Given the description of an element on the screen output the (x, y) to click on. 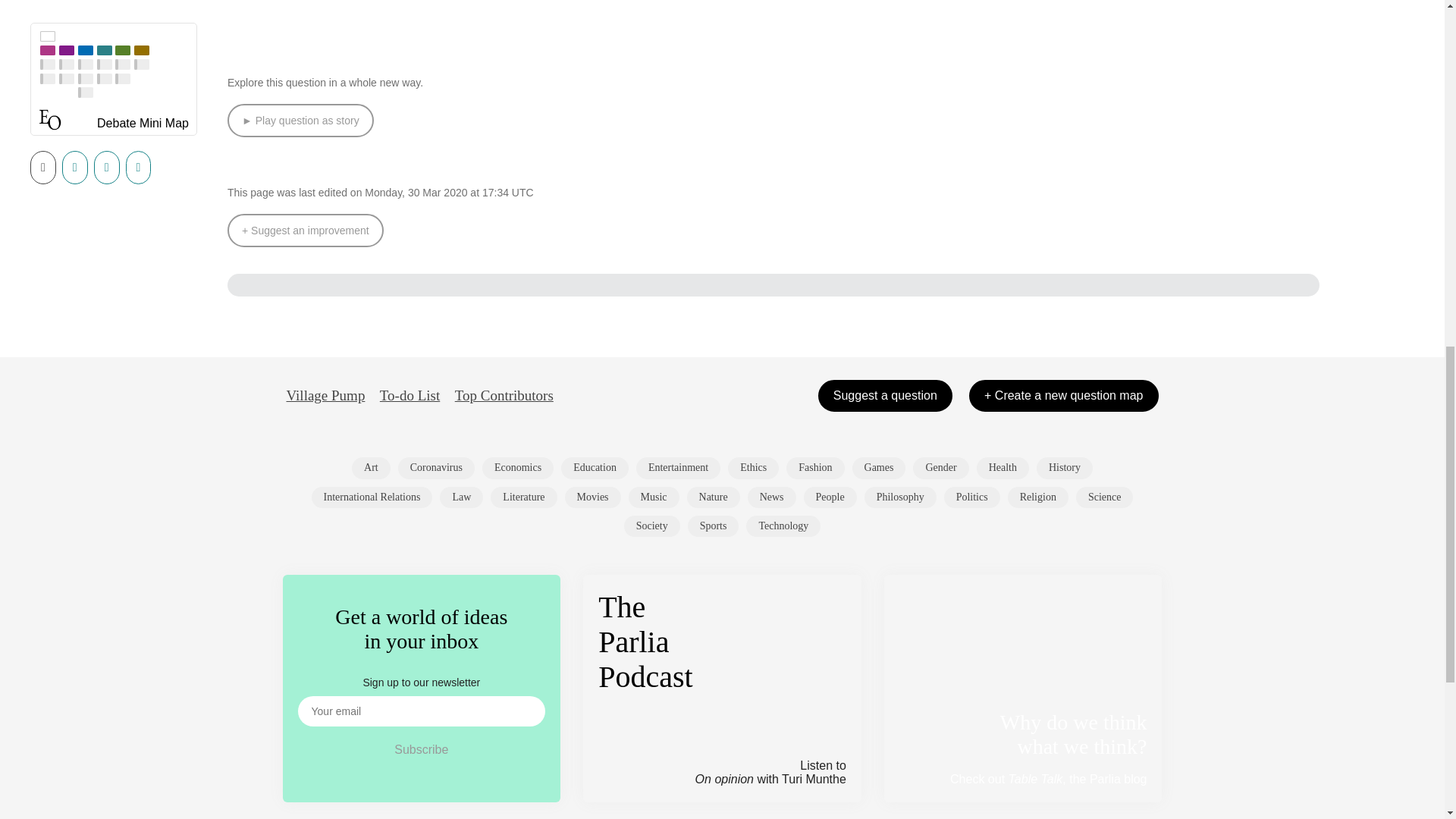
Category item (1002, 467)
Category item (753, 467)
Category item (371, 467)
Category item (678, 467)
Category item (940, 467)
Category item (653, 496)
Category item (461, 496)
Category item (371, 496)
Category item (523, 496)
Category item (594, 467)
